Given the description of an element on the screen output the (x, y) to click on. 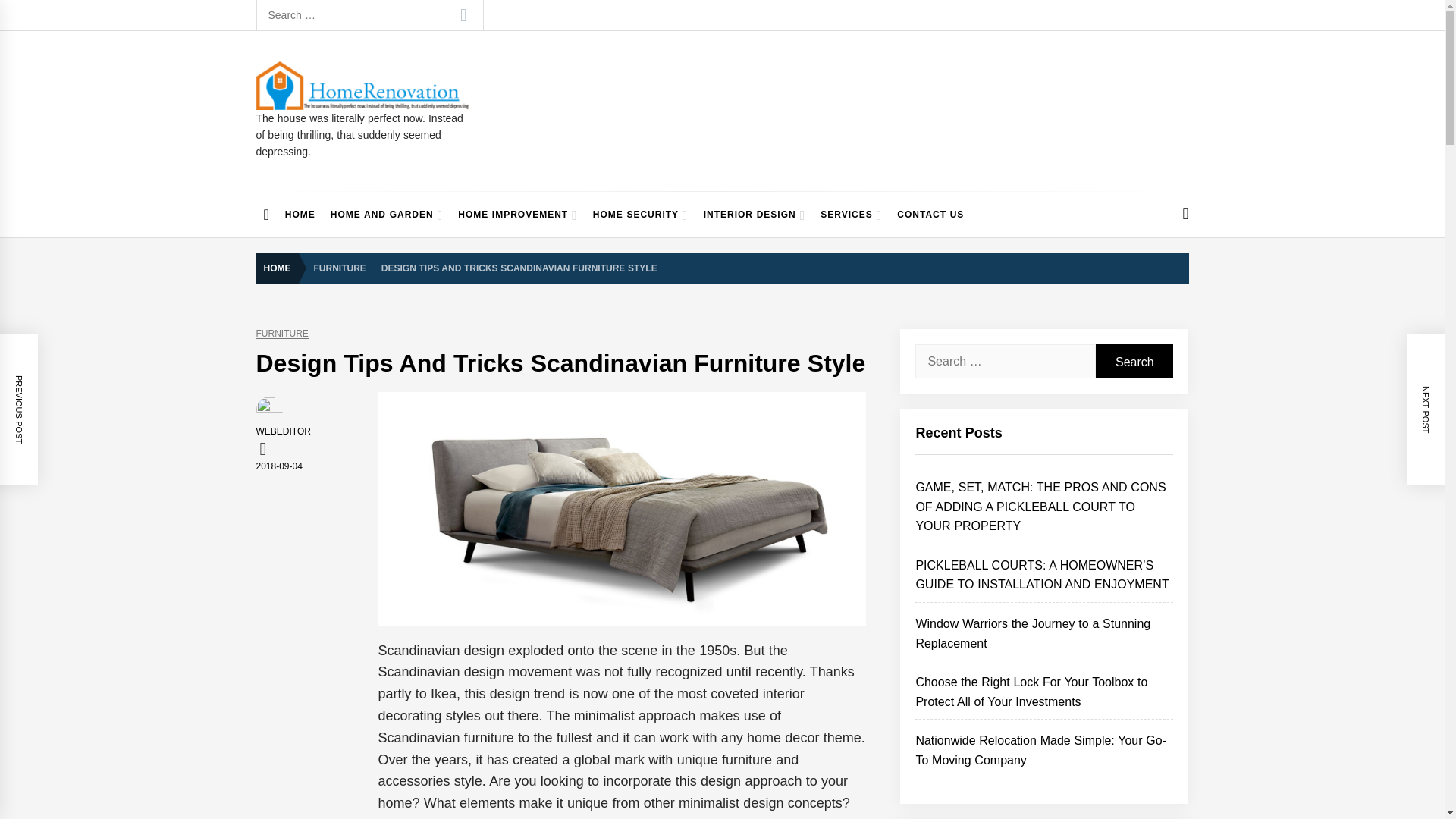
HOME (300, 214)
Search (1134, 360)
Search (462, 15)
HOME IMPROVEMENT (517, 214)
HOME AND GARDEN (386, 214)
HOME SECURITY (640, 214)
CONTACT US (930, 214)
Search (462, 15)
SERVICES (850, 214)
Search (462, 15)
Search (1134, 360)
HOME (280, 268)
Home Renovation (366, 124)
INTERIOR DESIGN (754, 214)
